Given the description of an element on the screen output the (x, y) to click on. 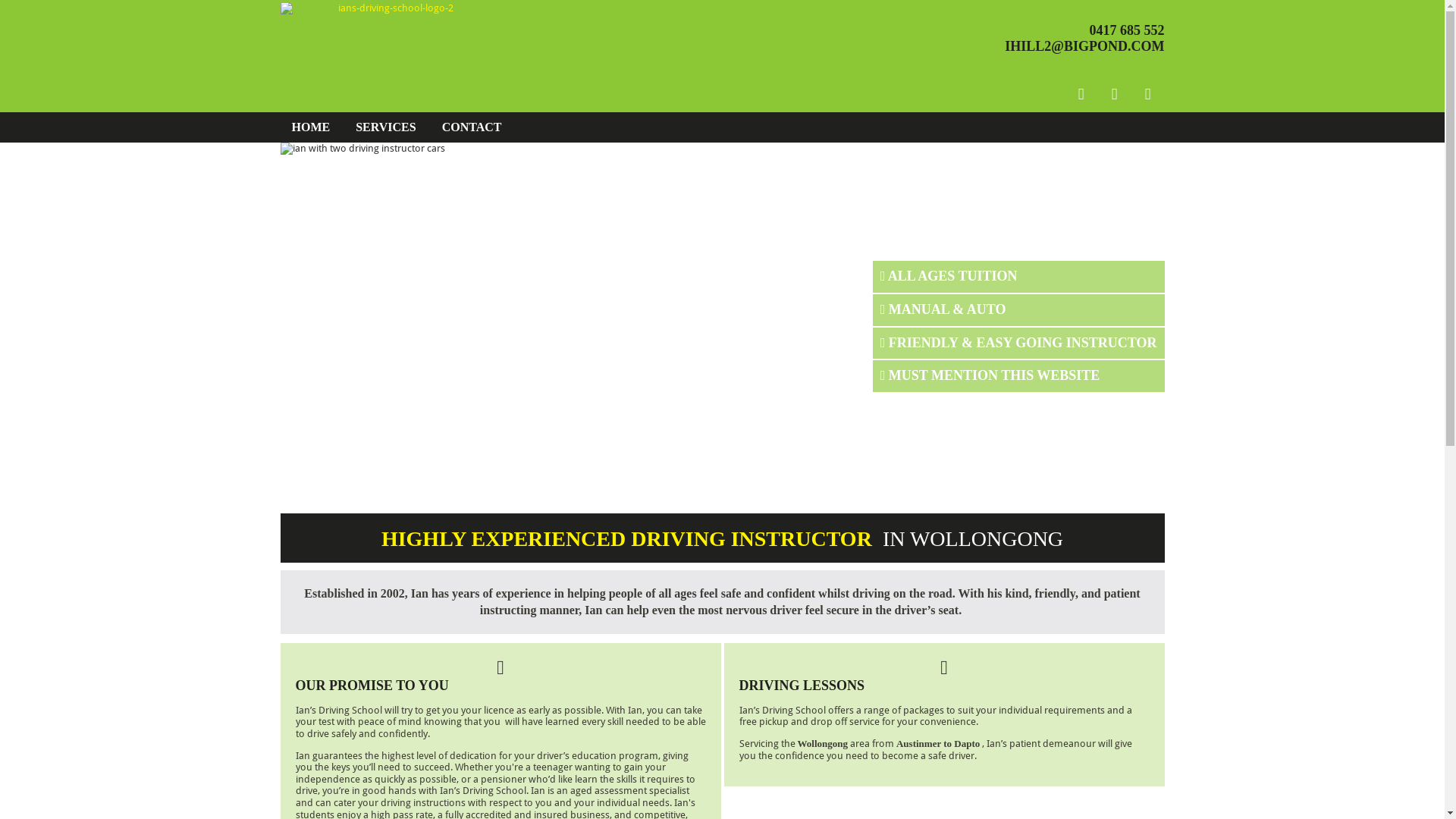
IHILL2@BIGPOND.COM Element type: text (1084, 45)
SERVICES Element type: text (385, 127)
HOME Element type: text (310, 127)
ian with two driving instructor cars Element type: hover (722, 327)
0417 685 552 Element type: text (1126, 29)
ians-driving-school-logo-2 Element type: hover (389, 8)
CONTACT Element type: text (472, 127)
